Given the description of an element on the screen output the (x, y) to click on. 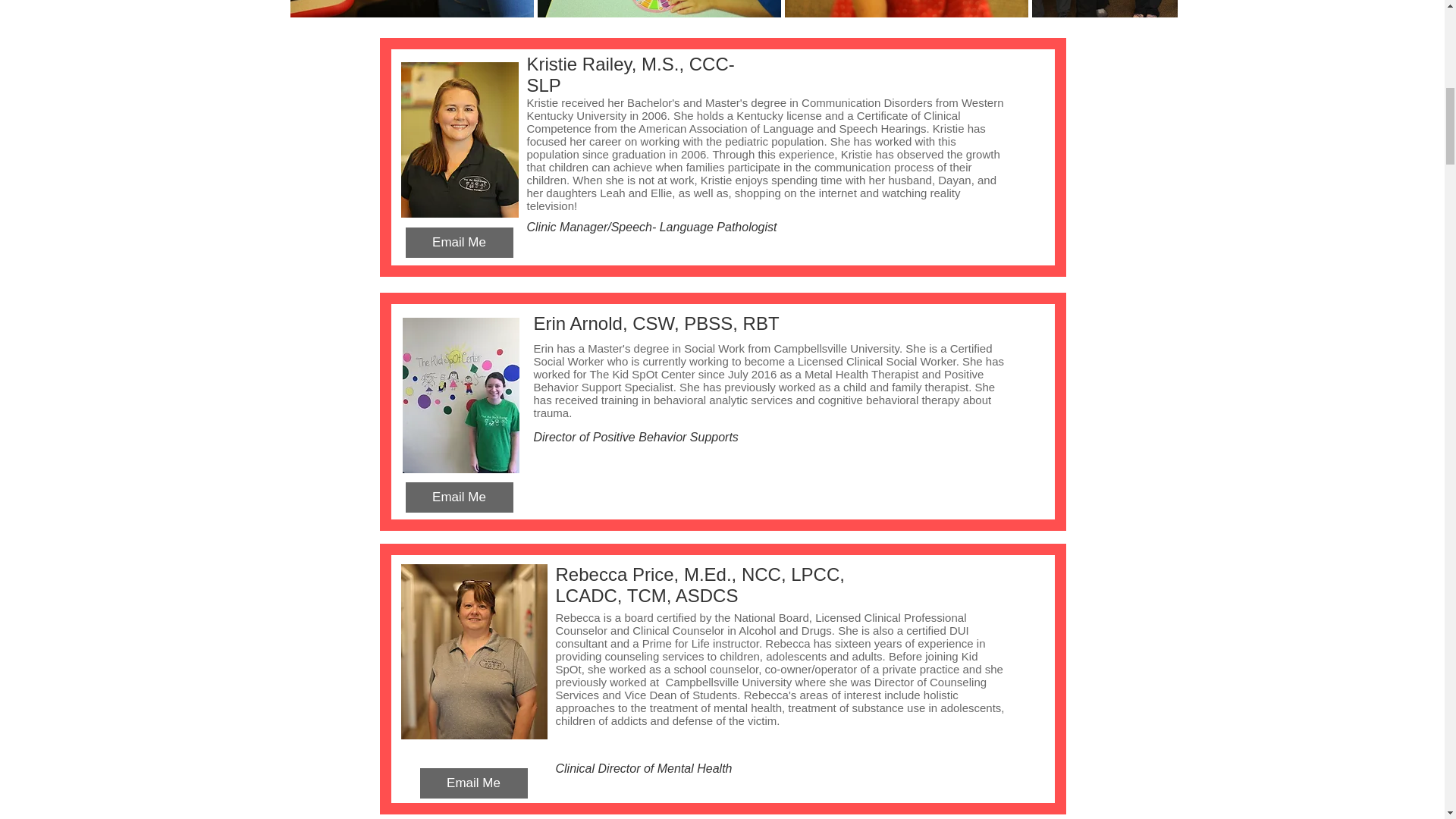
Email Me (458, 242)
Email Me (473, 783)
Email Me (458, 497)
